Given the description of an element on the screen output the (x, y) to click on. 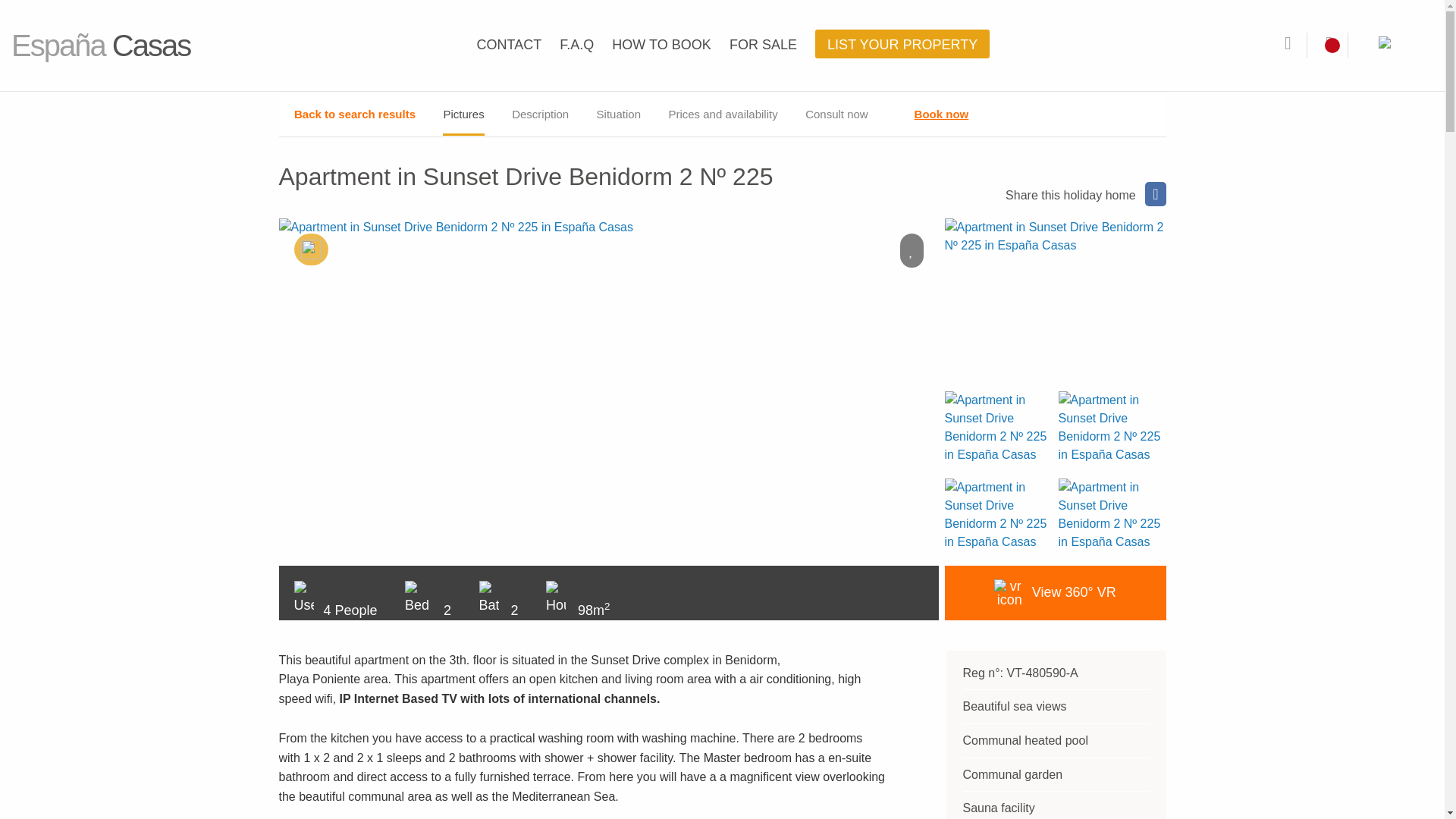
HOW TO BOOK	 (662, 44)
FOR SALE (764, 44)
LIST YOUR PROPERTY (901, 44)
HOW TO BOOK (662, 44)
F.A.Q (577, 44)
CONTACT (510, 44)
Great Holiday Home Rentals and Apartments in Spain (451, 41)
For sale (764, 44)
F.A.Q (577, 44)
CONTACT (510, 44)
LIST YOUR PROPERTY (901, 44)
